Given the description of an element on the screen output the (x, y) to click on. 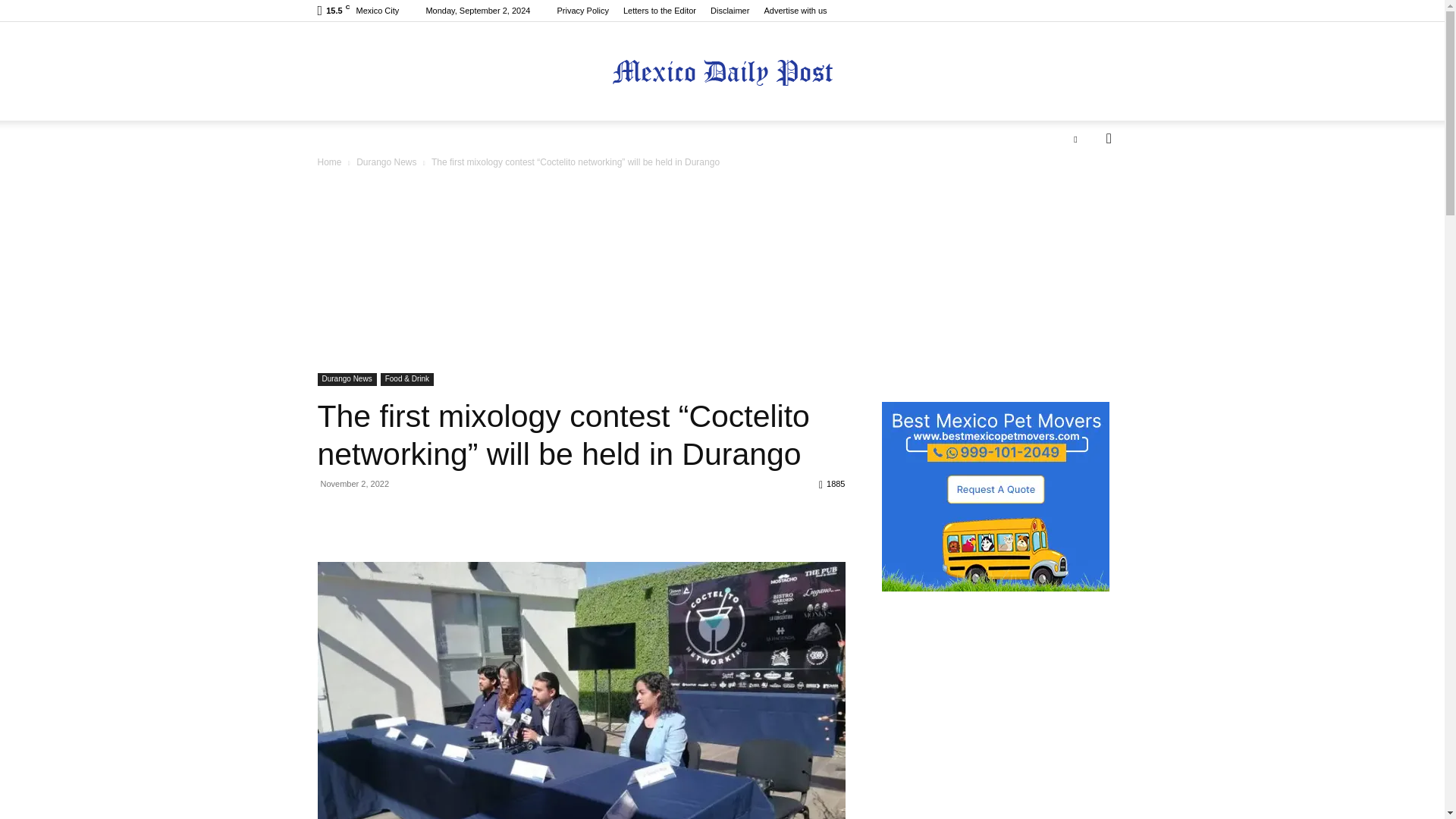
Home (328, 162)
Search (1085, 199)
Durango News (386, 162)
Durango News (346, 379)
Mexico Daily Post (721, 72)
Privacy Policy (582, 10)
Advertise with us (794, 10)
Disclaimer (729, 10)
Letters to the Editor (659, 10)
View all posts in Durango News (386, 162)
